Given the description of an element on the screen output the (x, y) to click on. 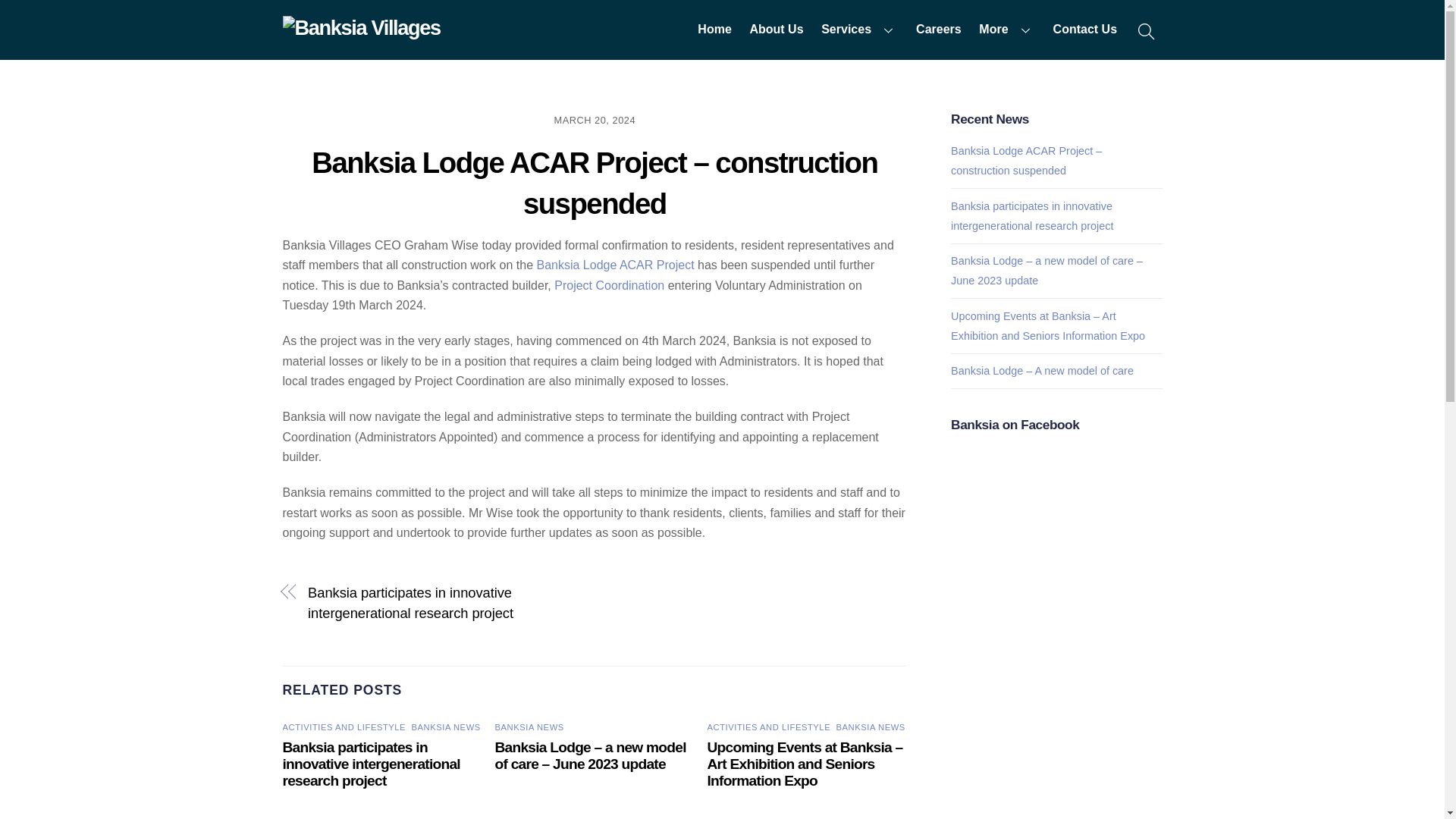
ACTIVITIES AND LIFESTYLE (344, 727)
Contact Us (1084, 30)
Banksia Lodge ACAR Project (614, 264)
More (1007, 30)
Careers (938, 30)
BANKSIA NEWS (529, 727)
Home (714, 30)
